Given the description of an element on the screen output the (x, y) to click on. 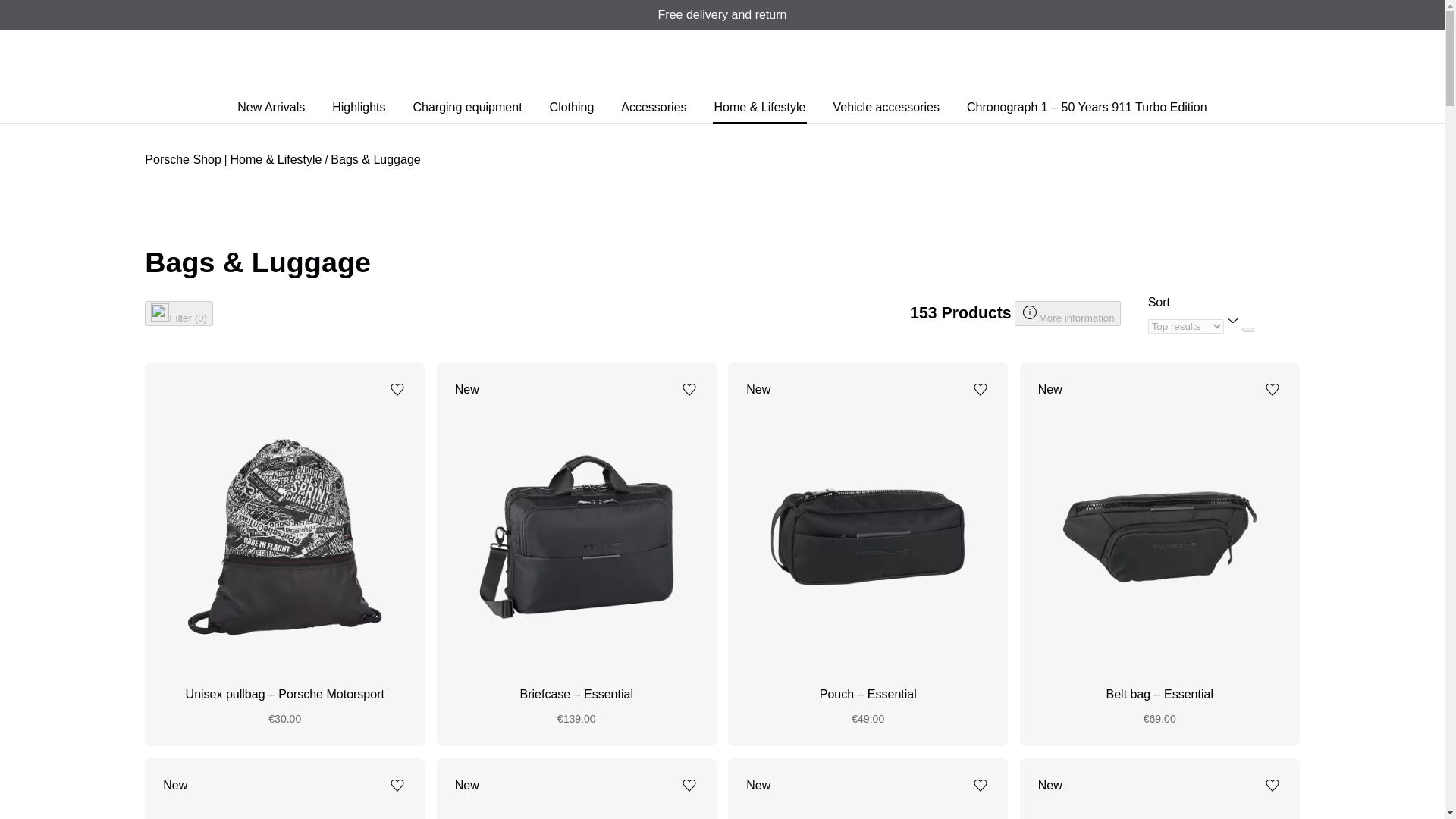
Accessories (653, 107)
Charging equipment (466, 107)
Clothing (571, 107)
New Arrivals (270, 107)
Highlights (358, 107)
